Given the description of an element on the screen output the (x, y) to click on. 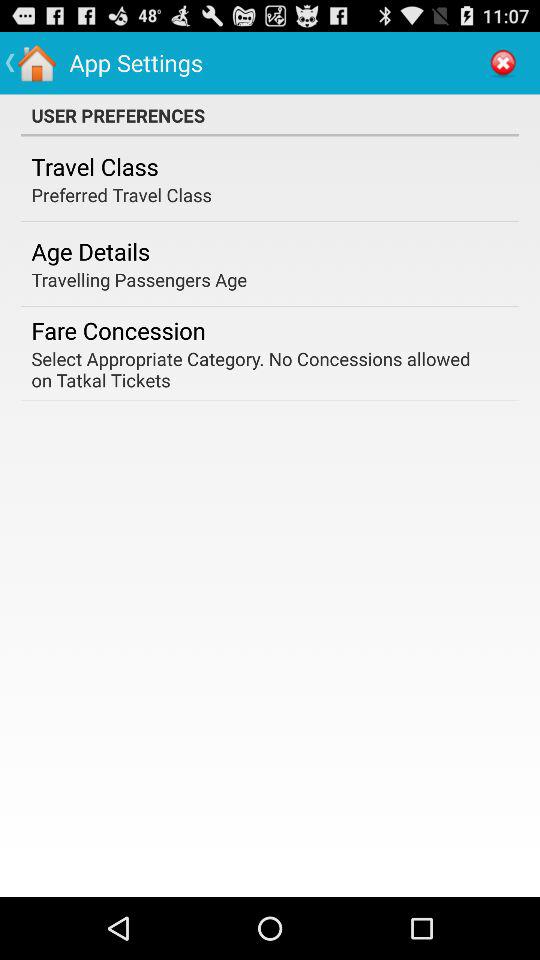
turn off the app above the user preferences (503, 62)
